Given the description of an element on the screen output the (x, y) to click on. 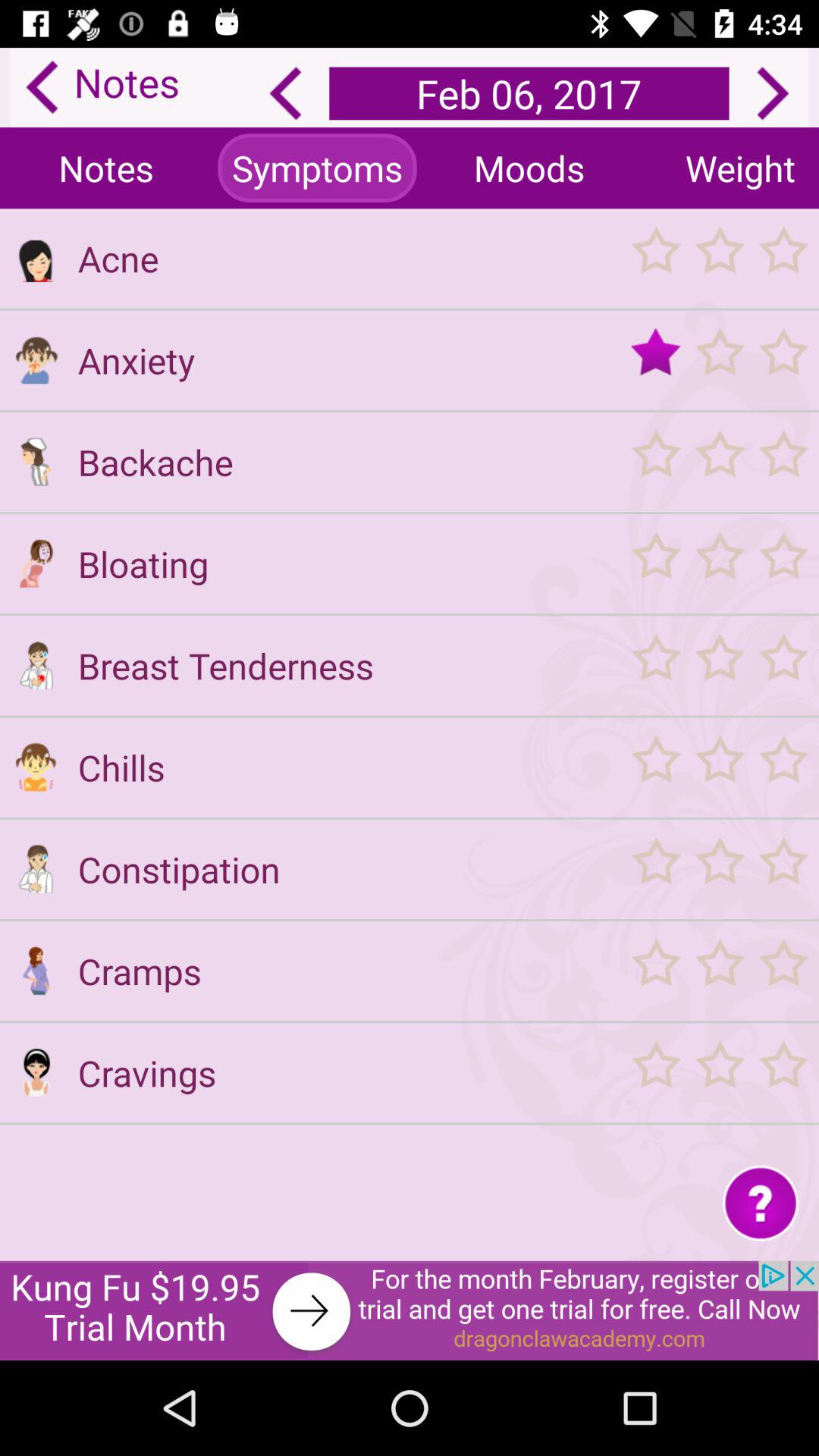
enter a rating (719, 563)
